Given the description of an element on the screen output the (x, y) to click on. 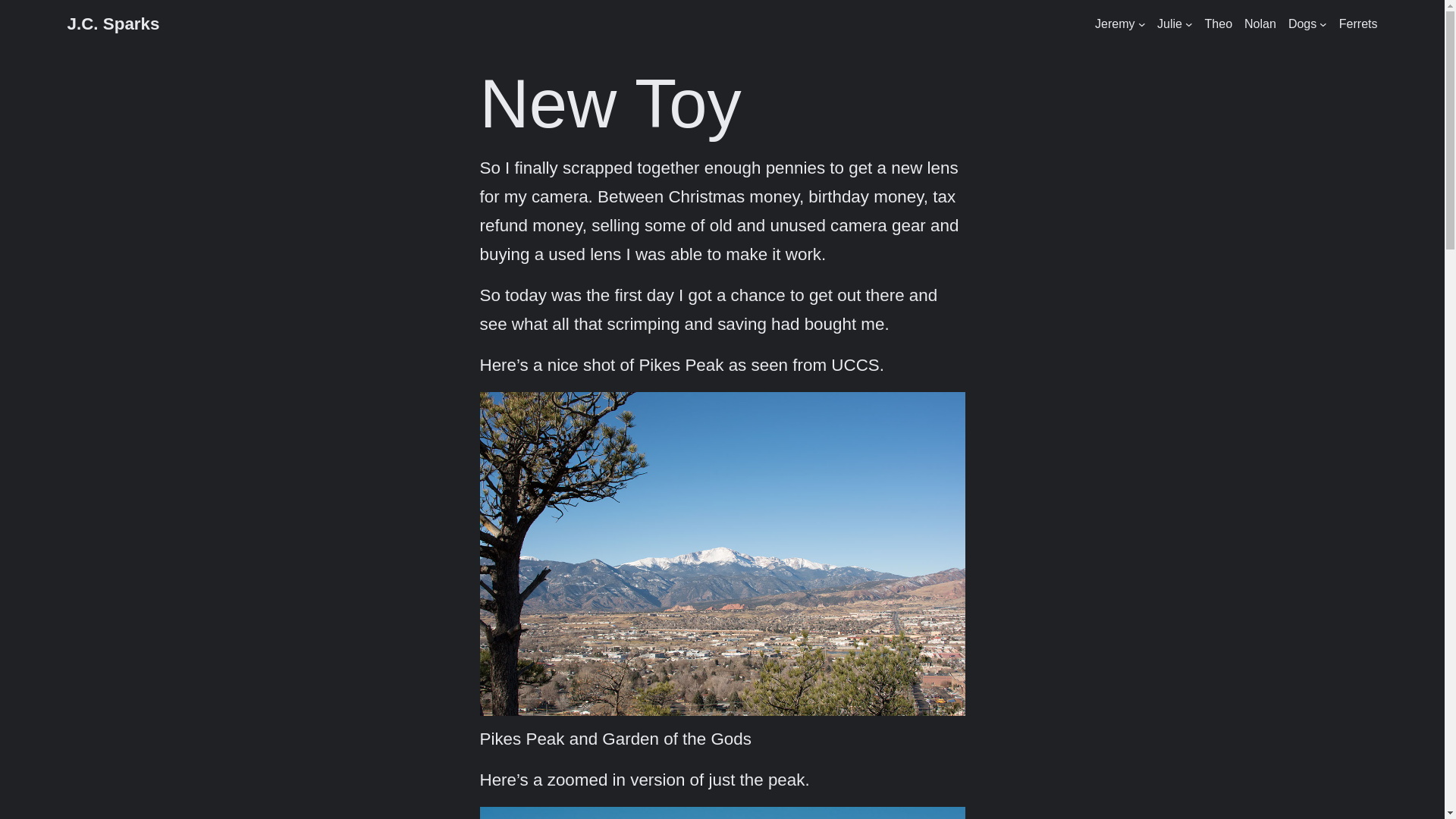
Jeremy (1114, 23)
Ferrets (1358, 23)
Dogs (1302, 23)
J.C. Sparks (112, 23)
Nolan (1260, 23)
Theo (1218, 23)
Julie (1169, 23)
